Given the description of an element on the screen output the (x, y) to click on. 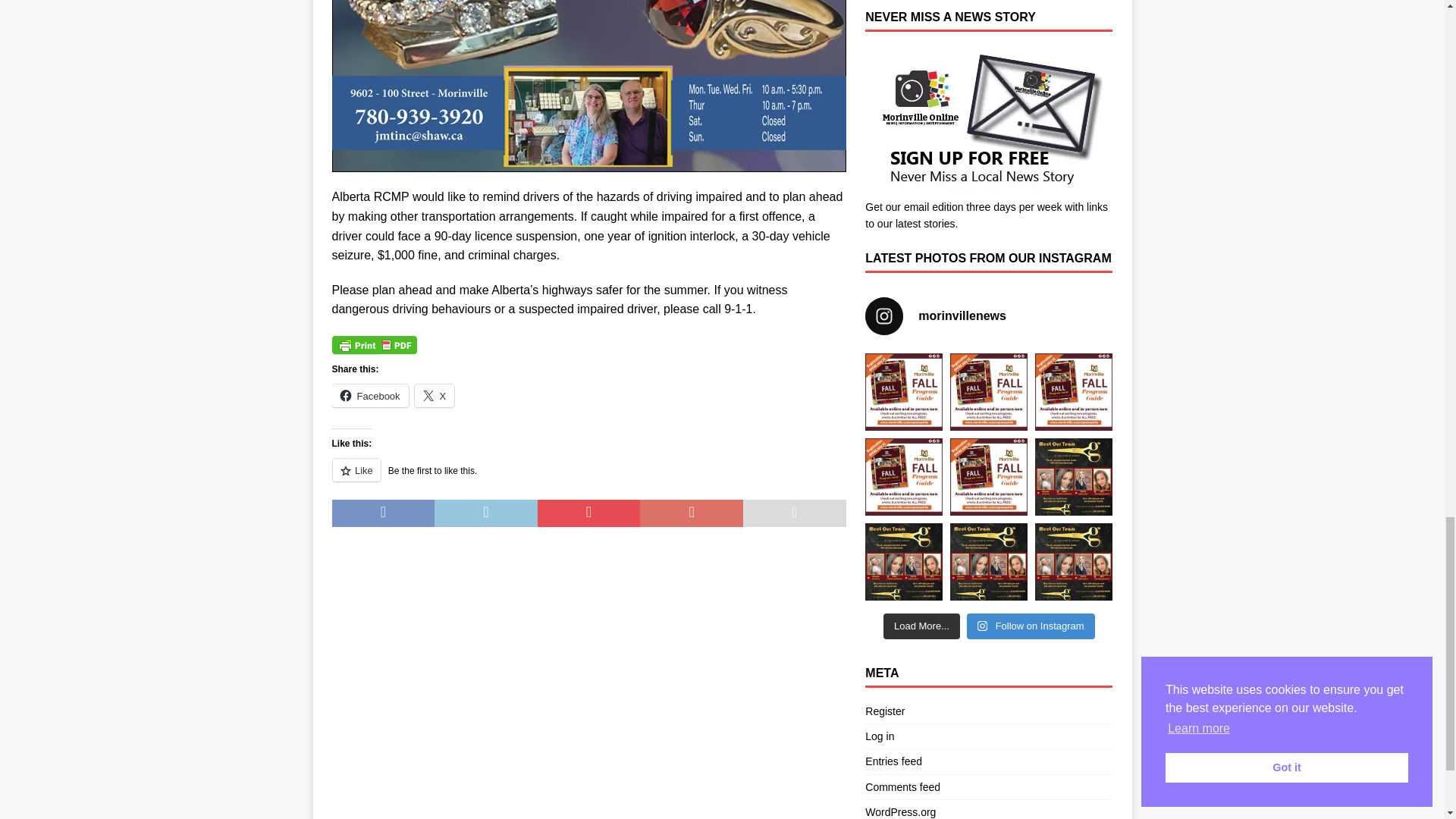
Click to share on Facebook (370, 395)
Like or Reblog (588, 478)
Click to share on X (434, 395)
